Given the description of an element on the screen output the (x, y) to click on. 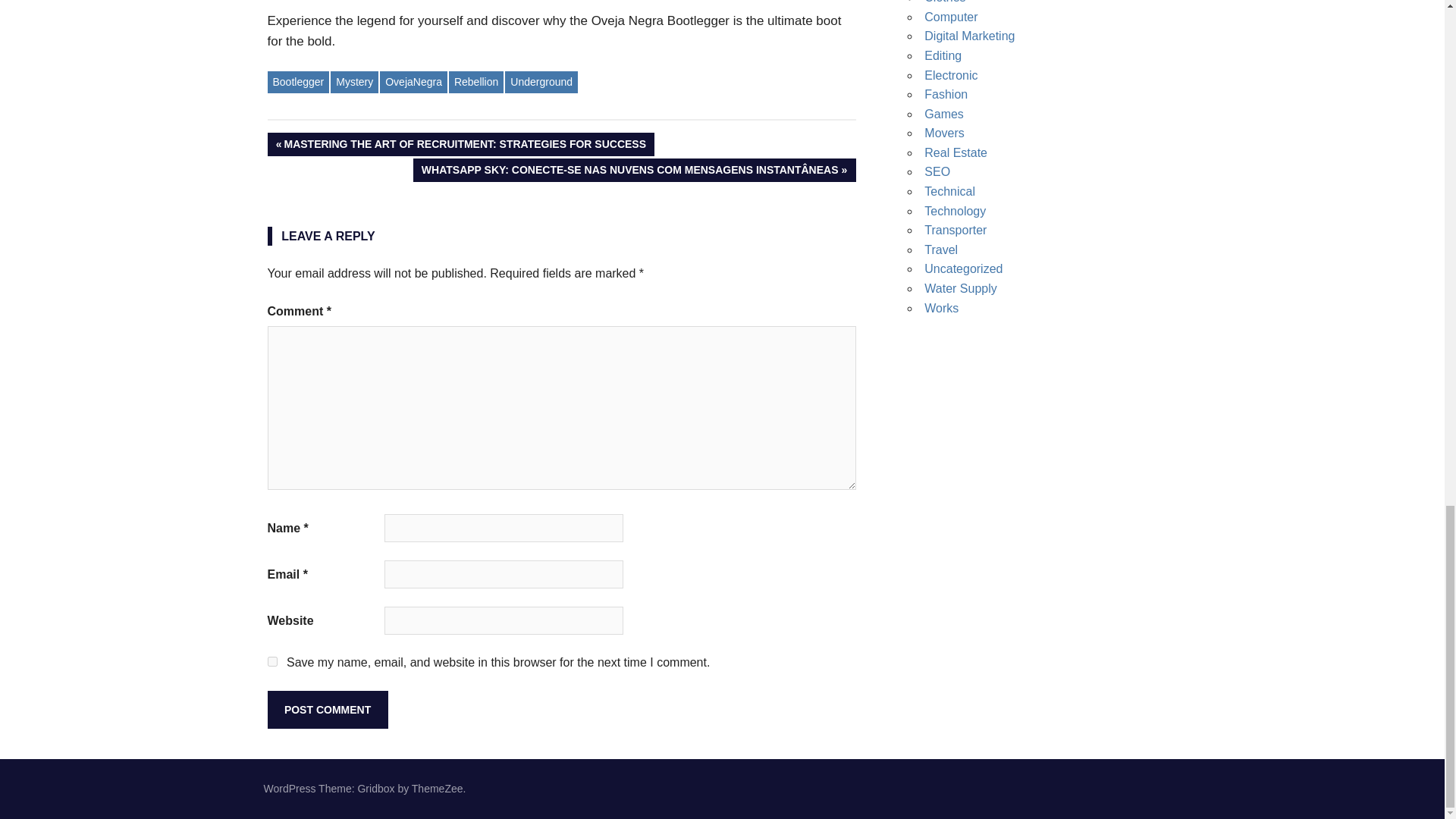
Rebellion (475, 82)
yes (271, 661)
Post Comment (326, 709)
OvejaNegra (413, 82)
Underground (541, 82)
Post Comment (326, 709)
Bootlegger (297, 82)
Mystery (354, 82)
